Given the description of an element on the screen output the (x, y) to click on. 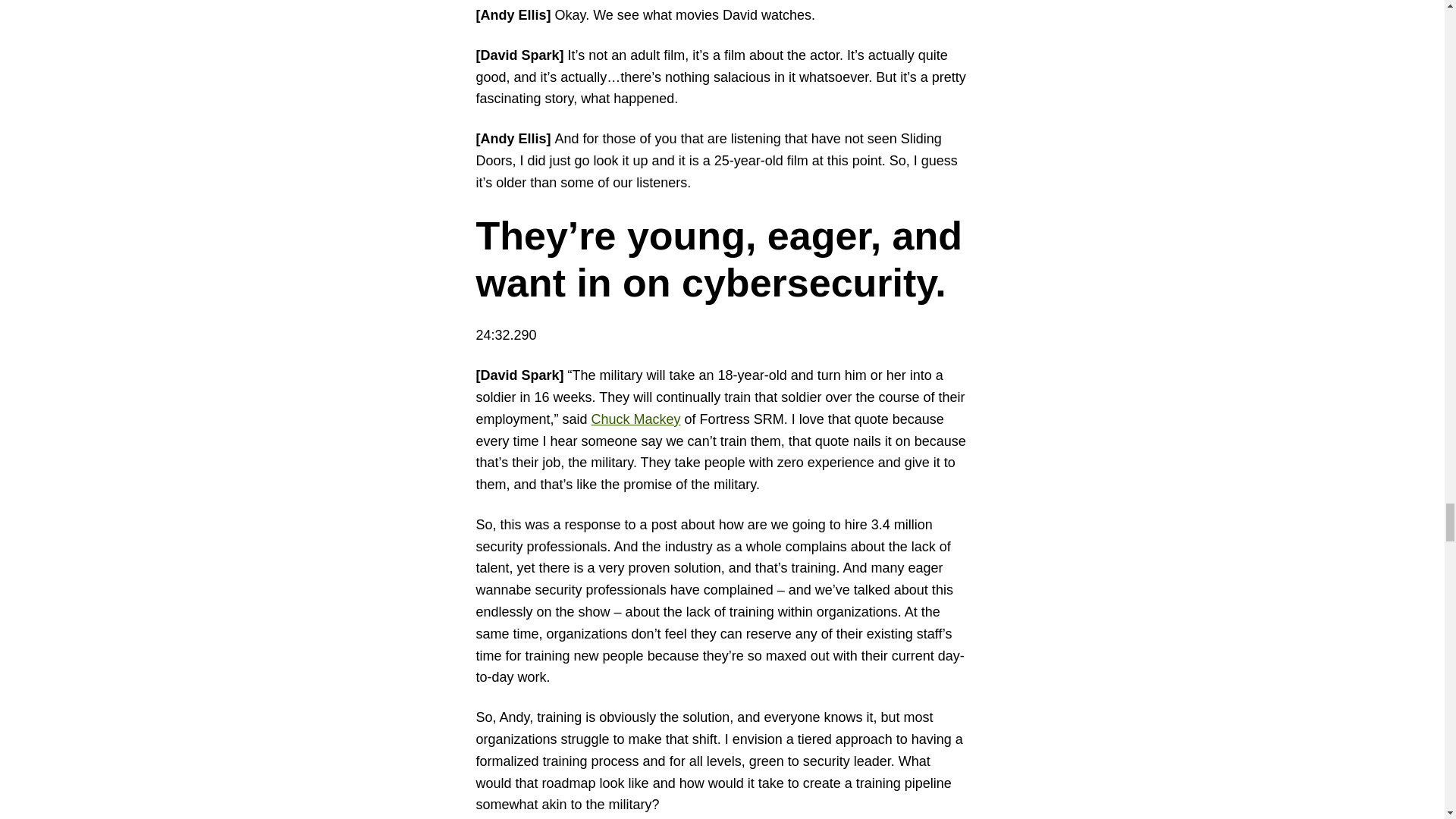
Chuck Mackey (636, 418)
